Given the description of an element on the screen output the (x, y) to click on. 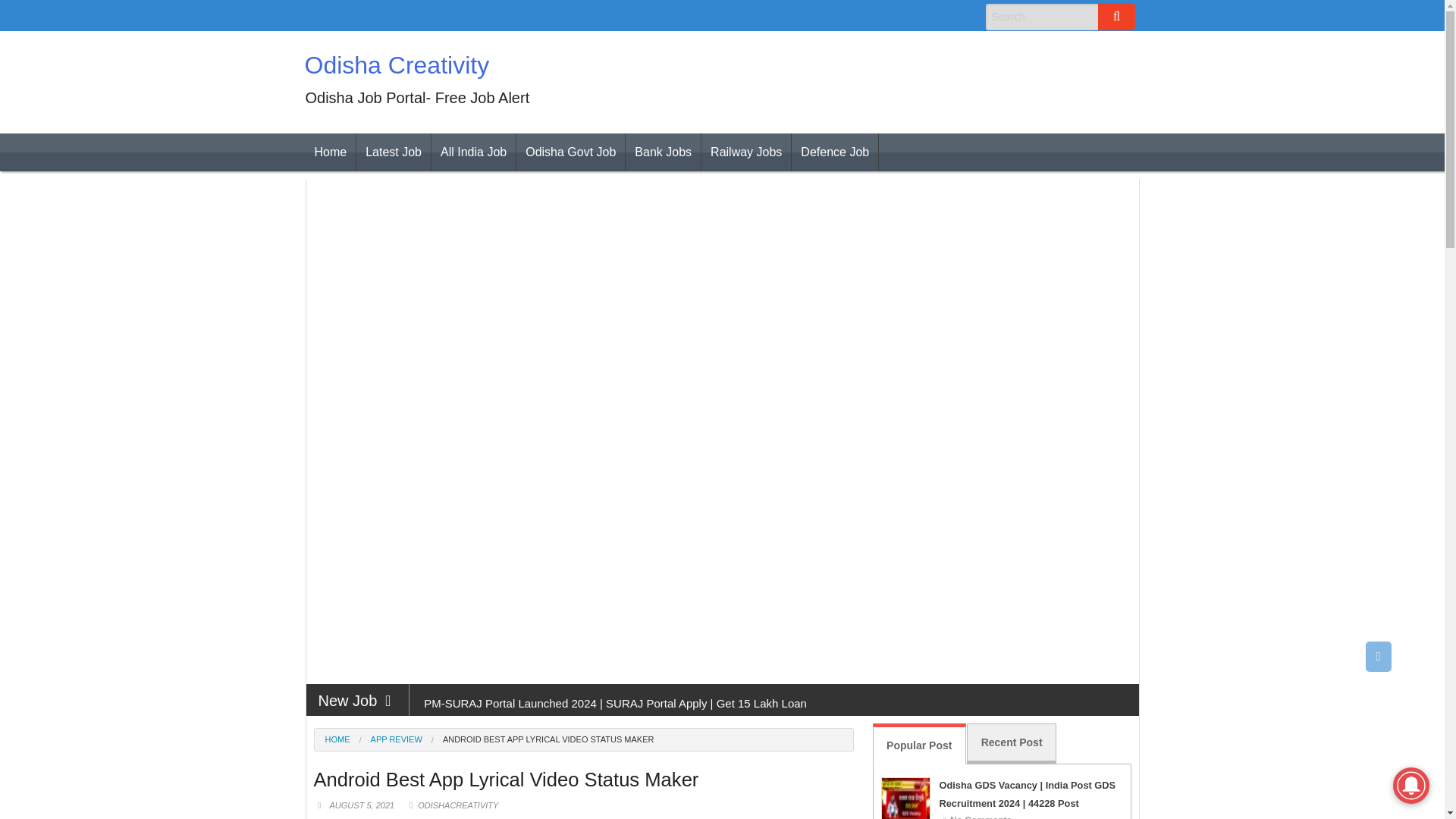
Latest Job (393, 152)
APP REVIEW (386, 739)
Go (1116, 16)
Defence Job (834, 152)
Odisha Creativity (396, 64)
Go (1116, 16)
All India Job (472, 152)
Home (329, 152)
Railway Jobs (745, 152)
ODISHACREATIVITY (458, 805)
Odisha Govt Job (570, 152)
Bank Jobs (663, 152)
HOME (336, 738)
AUGUST 5, 2021 (365, 805)
